Given the description of an element on the screen output the (x, y) to click on. 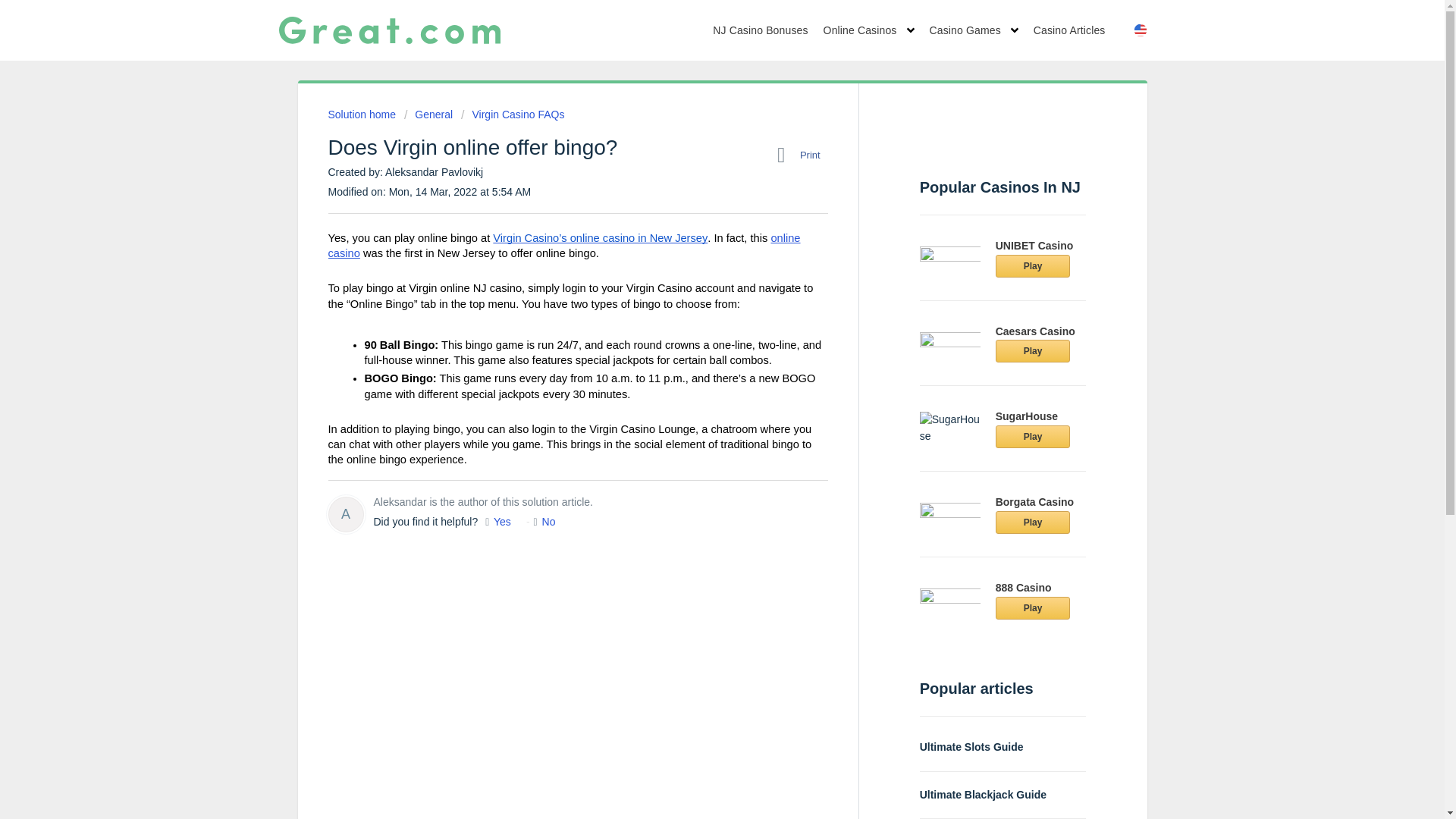
NJ Casino Bonuses (759, 30)
Print this Article (802, 154)
Virgin Casino FAQs (512, 114)
888 Casino (1023, 587)
Casino Articles (1069, 30)
Casino Articles (1069, 30)
Play (1032, 436)
Solution home (362, 114)
U.S. (1170, 22)
online casino (563, 245)
